Given the description of an element on the screen output the (x, y) to click on. 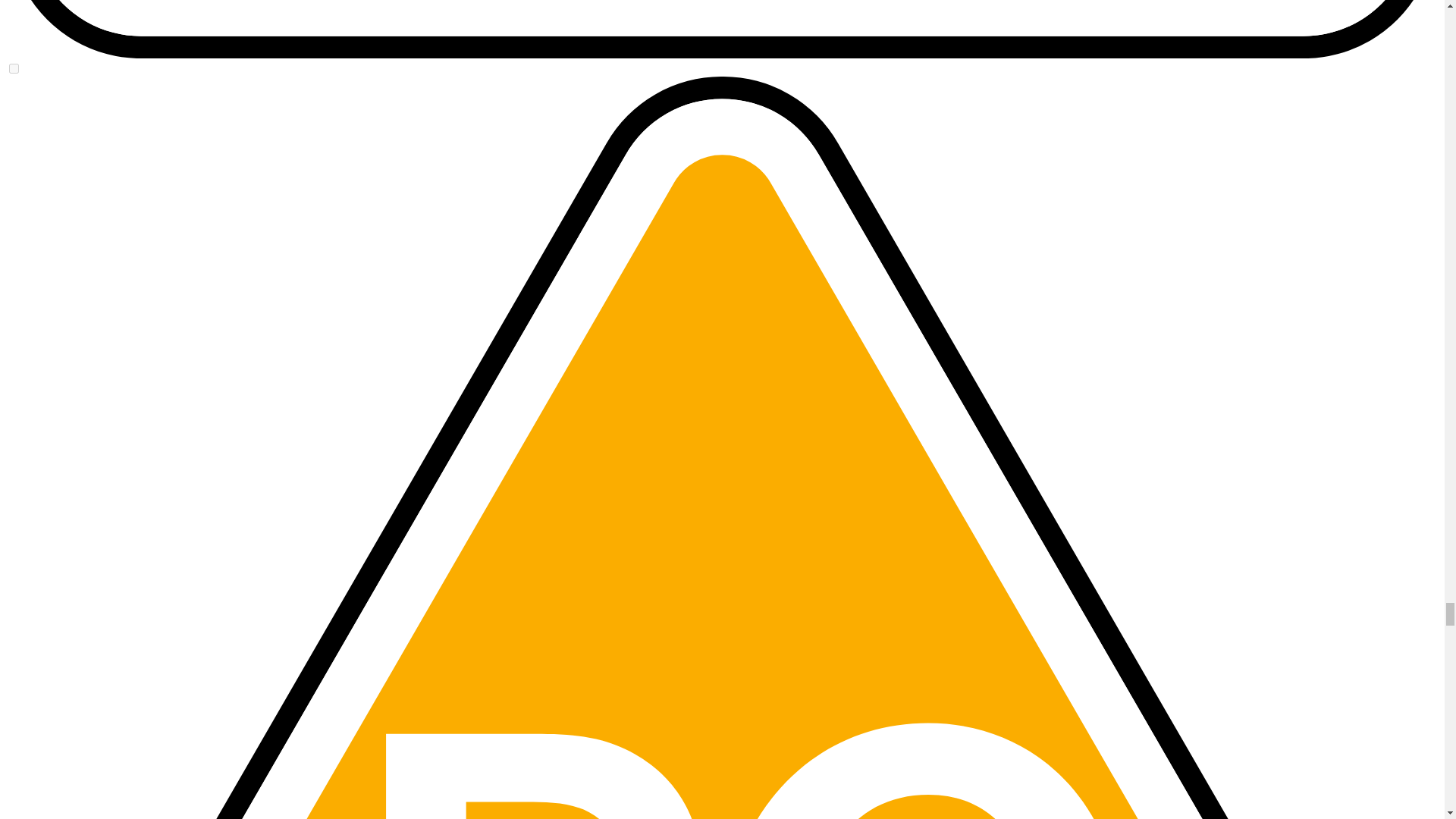
U (13, 68)
